Given the description of an element on the screen output the (x, y) to click on. 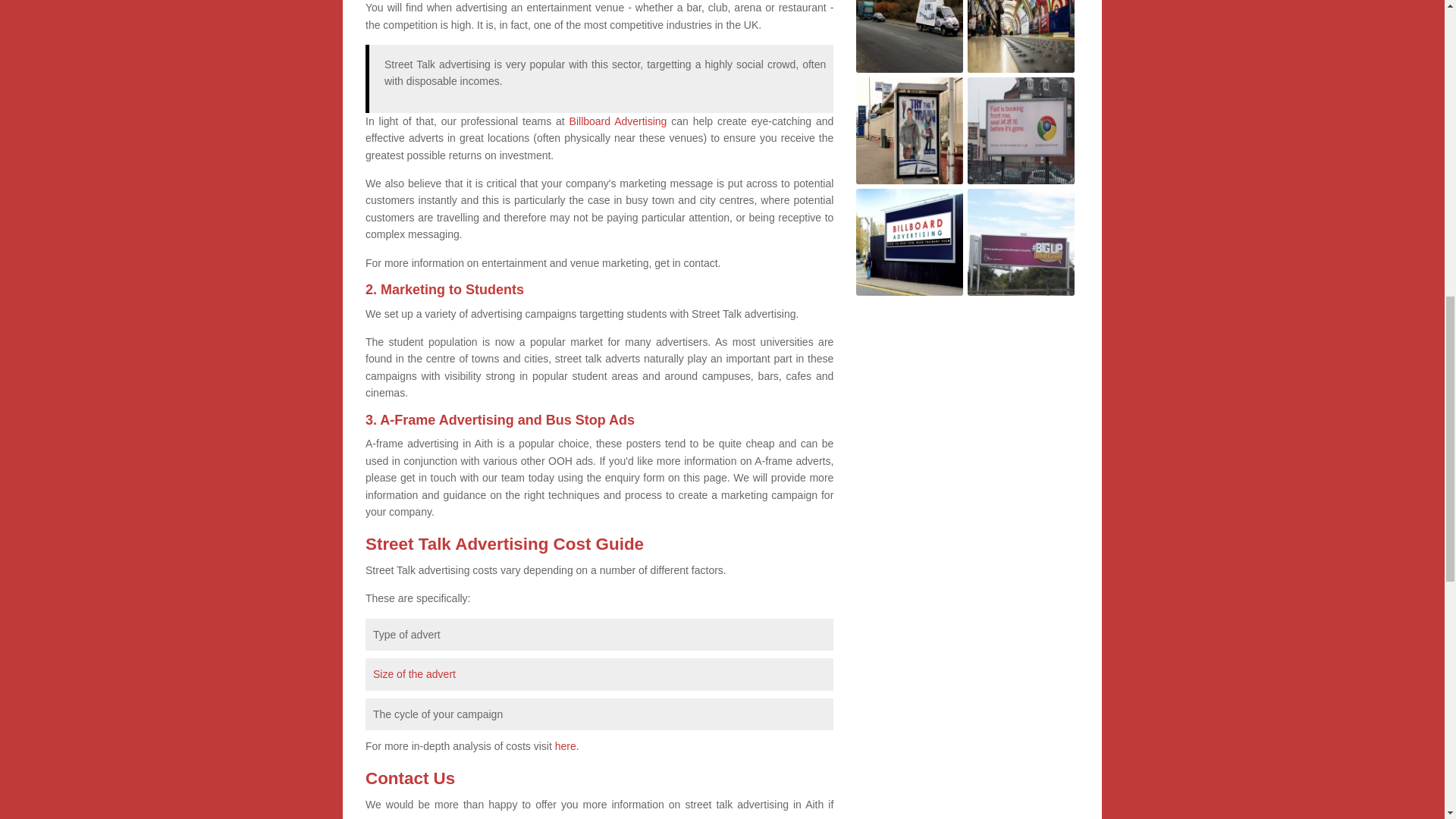
High Street Advertising in Aith 9 (909, 130)
High Street Advertising in Aith 8 (1021, 36)
High Street Advertising in Aith 12 (1021, 242)
High Street Advertising in Aith 10 (1021, 130)
High Street Advertising in Aith 11 (909, 242)
High Street Advertising in Aith 7 (909, 36)
